Given the description of an element on the screen output the (x, y) to click on. 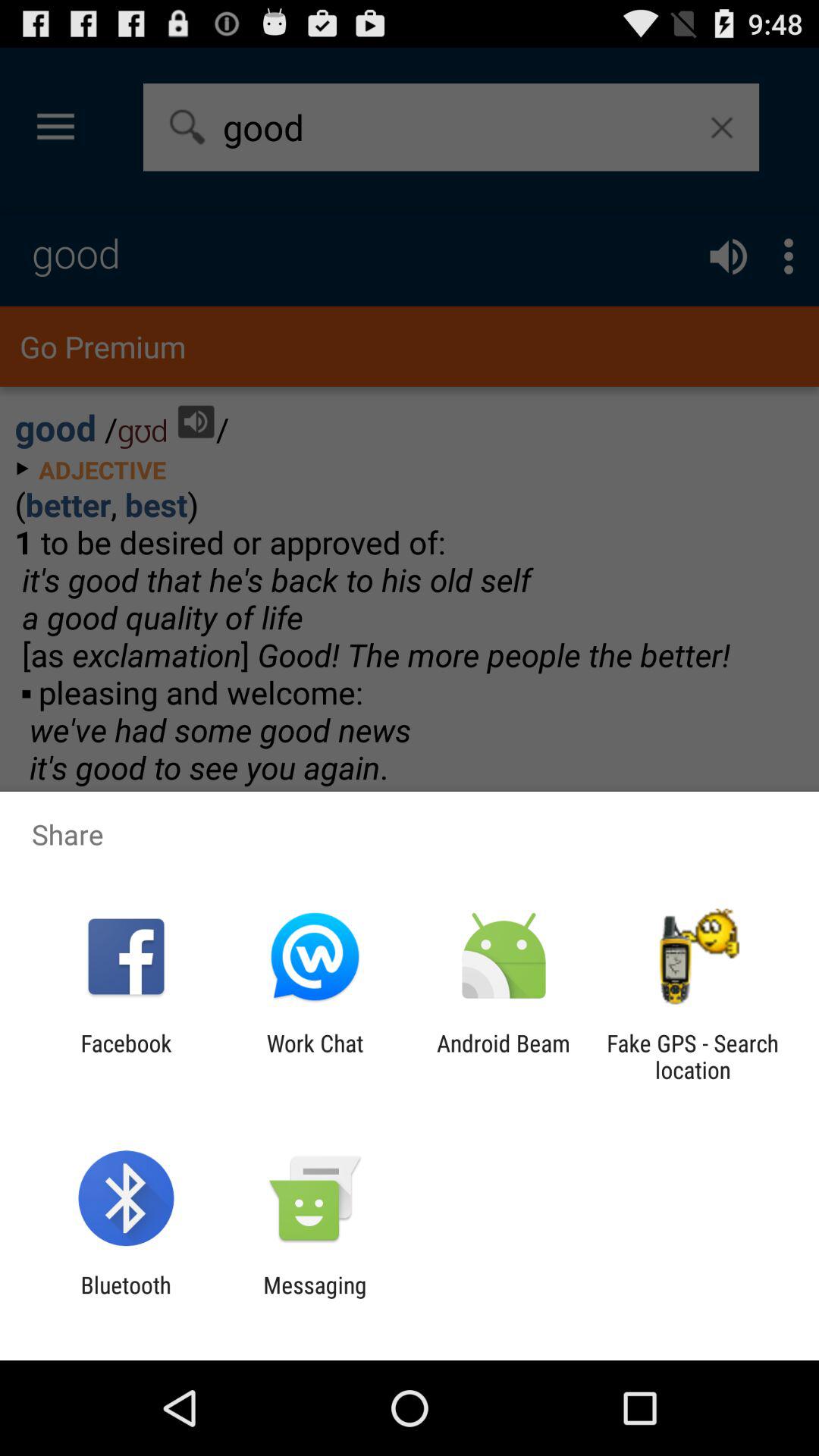
select icon at the bottom right corner (692, 1056)
